Given the description of an element on the screen output the (x, y) to click on. 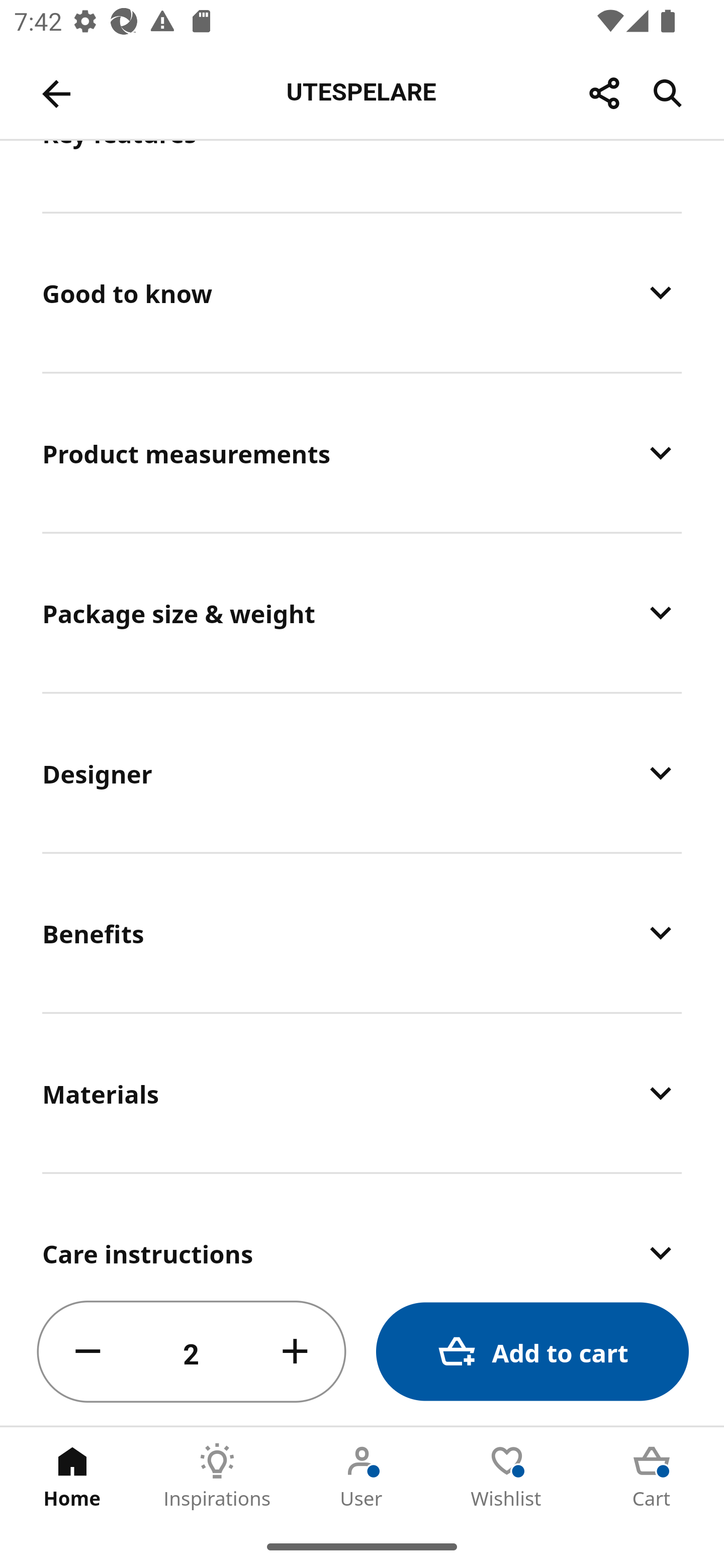
Good to know (361, 292)
Product measurements (361, 451)
Package size & weight (361, 611)
Designer (361, 772)
Benefits (361, 932)
Materials (361, 1092)
Care instructions (361, 1226)
Add to cart (531, 1352)
2 (191, 1352)
Home
Tab 1 of 5 (72, 1476)
Inspirations
Tab 2 of 5 (216, 1476)
User
Tab 3 of 5 (361, 1476)
Wishlist
Tab 4 of 5 (506, 1476)
Cart
Tab 5 of 5 (651, 1476)
